Given the description of an element on the screen output the (x, y) to click on. 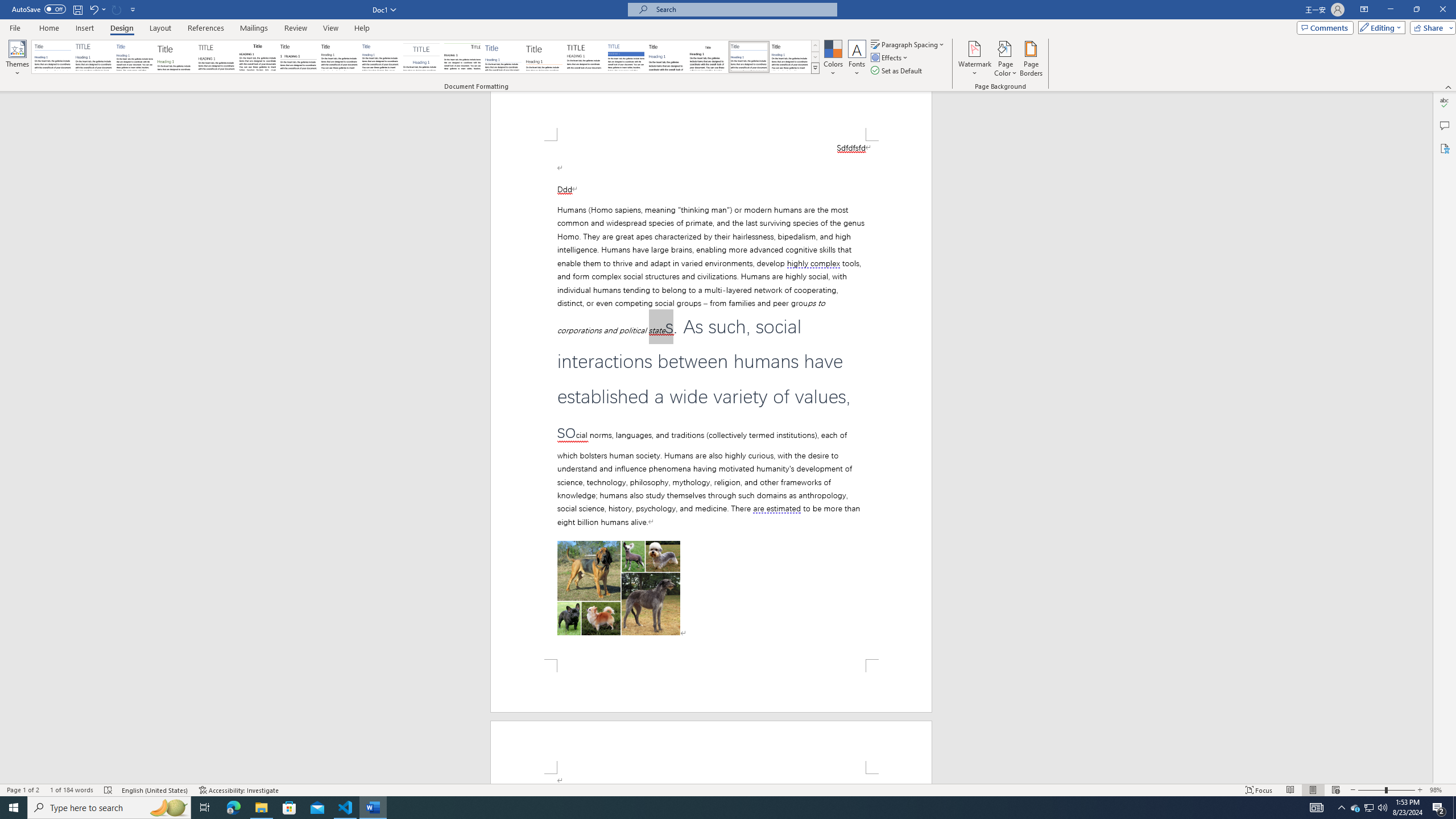
Page Number Page 1 of 2 (22, 790)
Paragraph Spacing (908, 44)
Black & White (Capitalized) (216, 56)
Fonts (856, 58)
Colors (832, 58)
Page 2 content (710, 778)
